Given the description of an element on the screen output the (x, y) to click on. 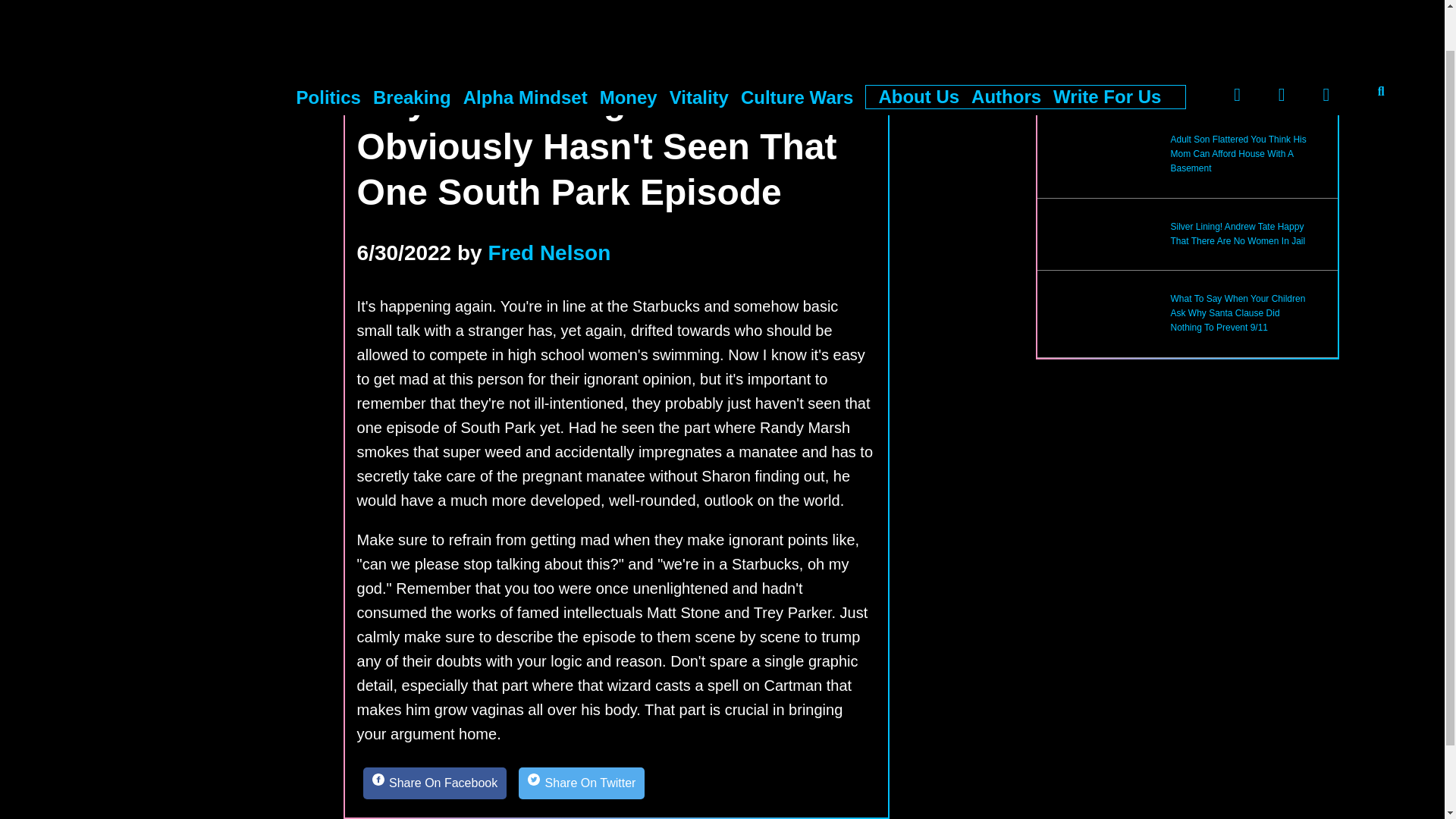
Alpha Mindset (525, 50)
Share On Twitter (581, 783)
Culture Wars (797, 50)
Authors (1006, 49)
About Us (918, 49)
Money (628, 50)
Politics (329, 50)
Fred Nelson (548, 252)
Breaking (411, 50)
Write For Us (1106, 49)
Share On Facebook (434, 783)
Vitality (699, 50)
